Given the description of an element on the screen output the (x, y) to click on. 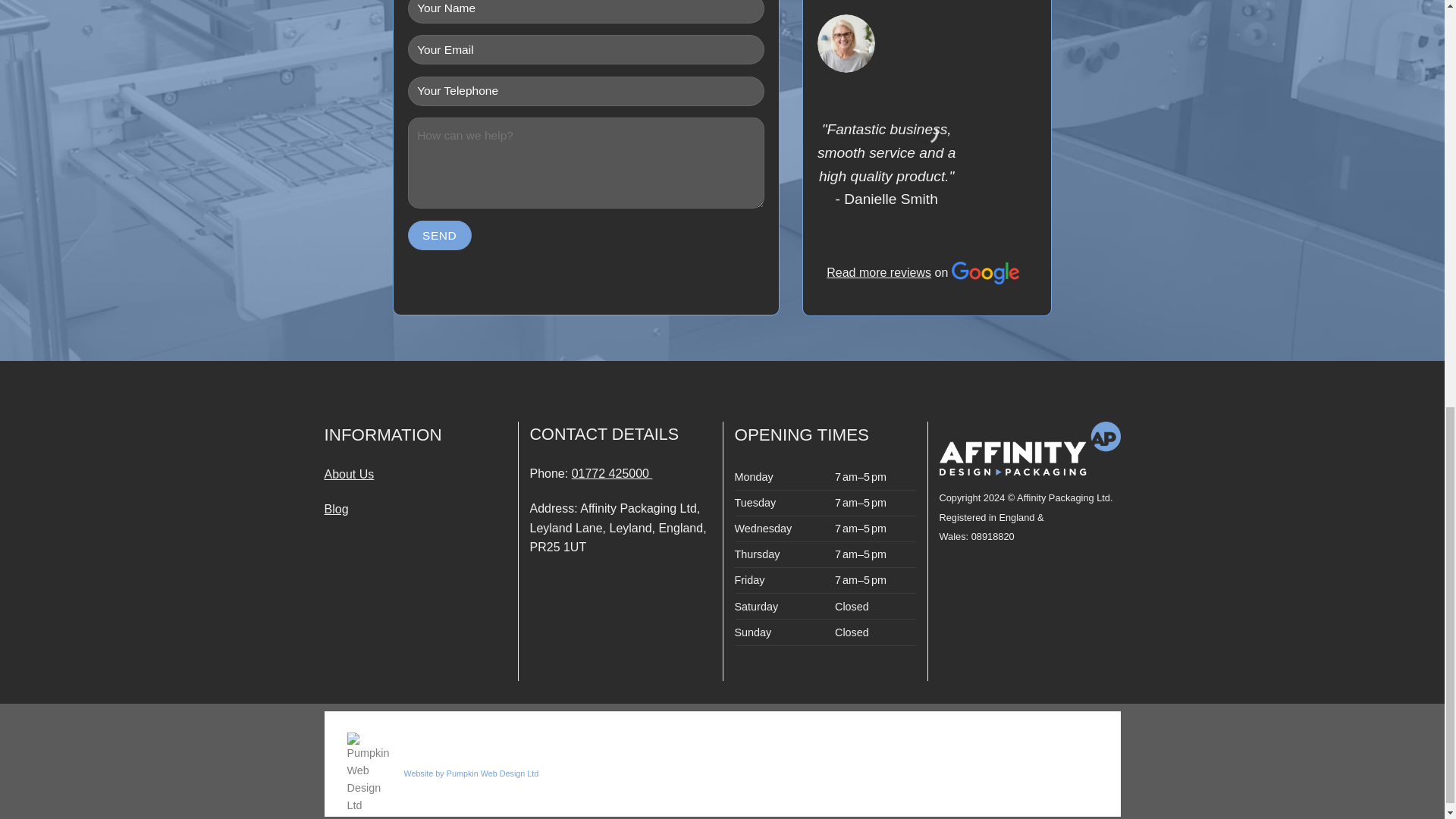
Send (439, 235)
Website by Pumpkin Web Design Ltd (470, 773)
01772 425000  (612, 472)
About Us (349, 473)
Send (439, 235)
Read more reviews (879, 83)
Blog (336, 508)
